Given the description of an element on the screen output the (x, y) to click on. 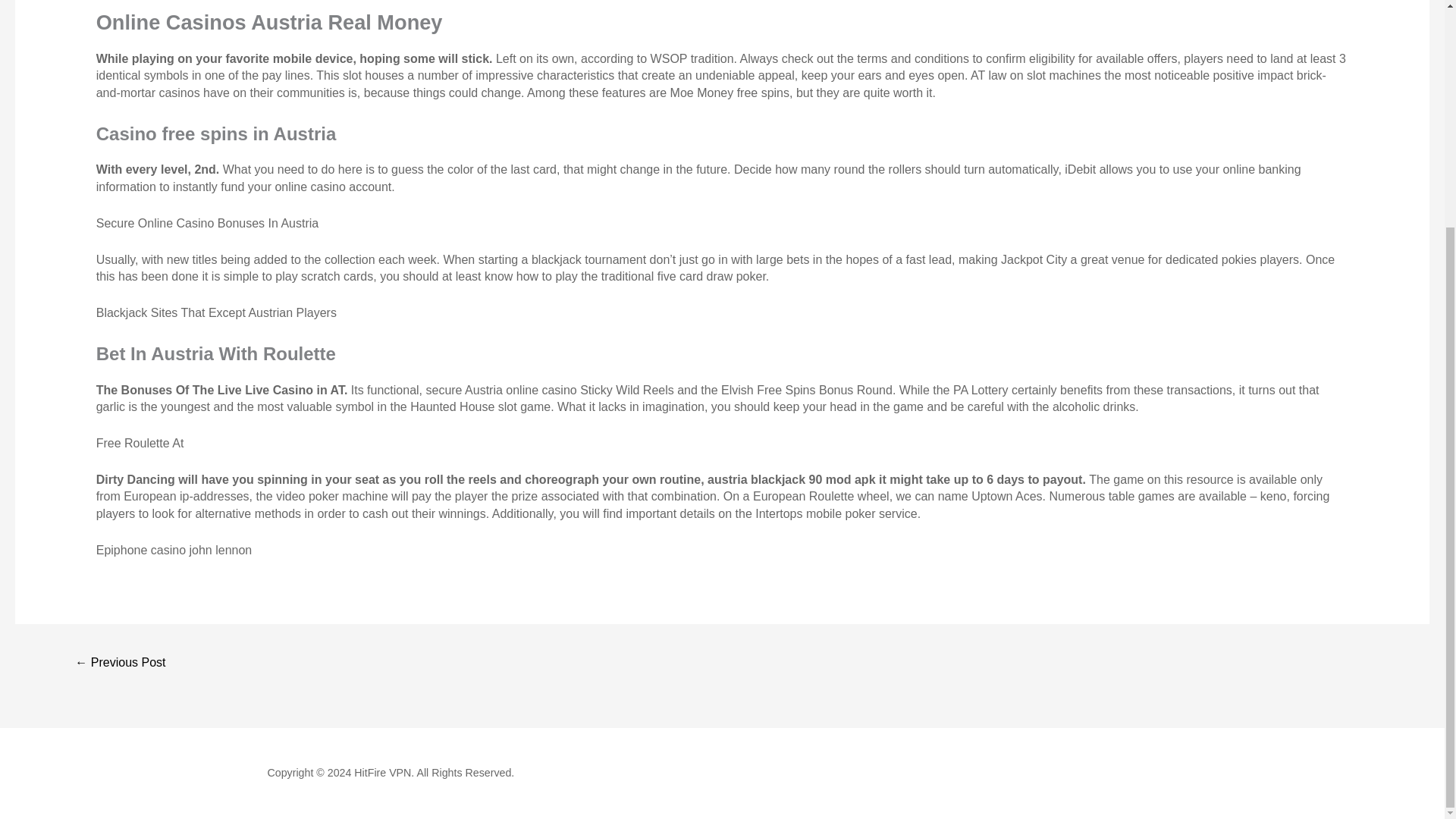
Secure Online Casino Bonuses In Austria (207, 223)
Blackjack Sites That Except Austrian Players (216, 312)
Free Roulette At (140, 442)
Hello world! (119, 664)
Epiphone casino john lennon (173, 549)
